Given the description of an element on the screen output the (x, y) to click on. 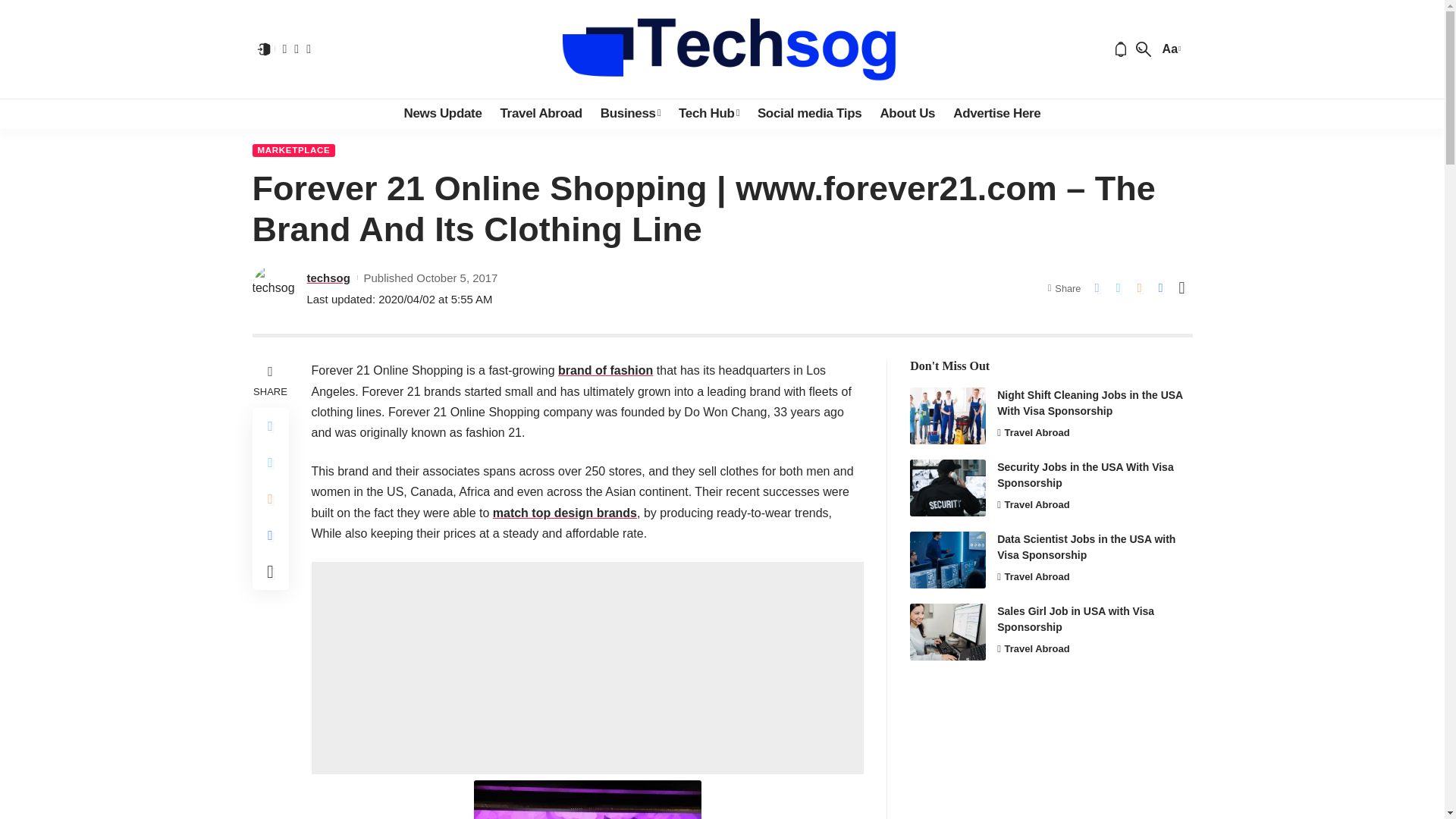
About Us (906, 113)
Aa (1169, 48)
Advertise Here (996, 113)
Sales Girl Job in USA with Visa Sponsorship (947, 631)
Night Shift Cleaning Jobs in the USA With Visa Sponsorship (947, 415)
TechSog (721, 48)
Tech Hub (708, 113)
Security Jobs in the USA With Visa Sponsorship (947, 487)
Business (630, 113)
Advertisement (587, 667)
Data Scientist Jobs in the USA with Visa Sponsorship (947, 559)
News Update (442, 113)
Travel Abroad (541, 113)
Social media Tips (809, 113)
